Given the description of an element on the screen output the (x, y) to click on. 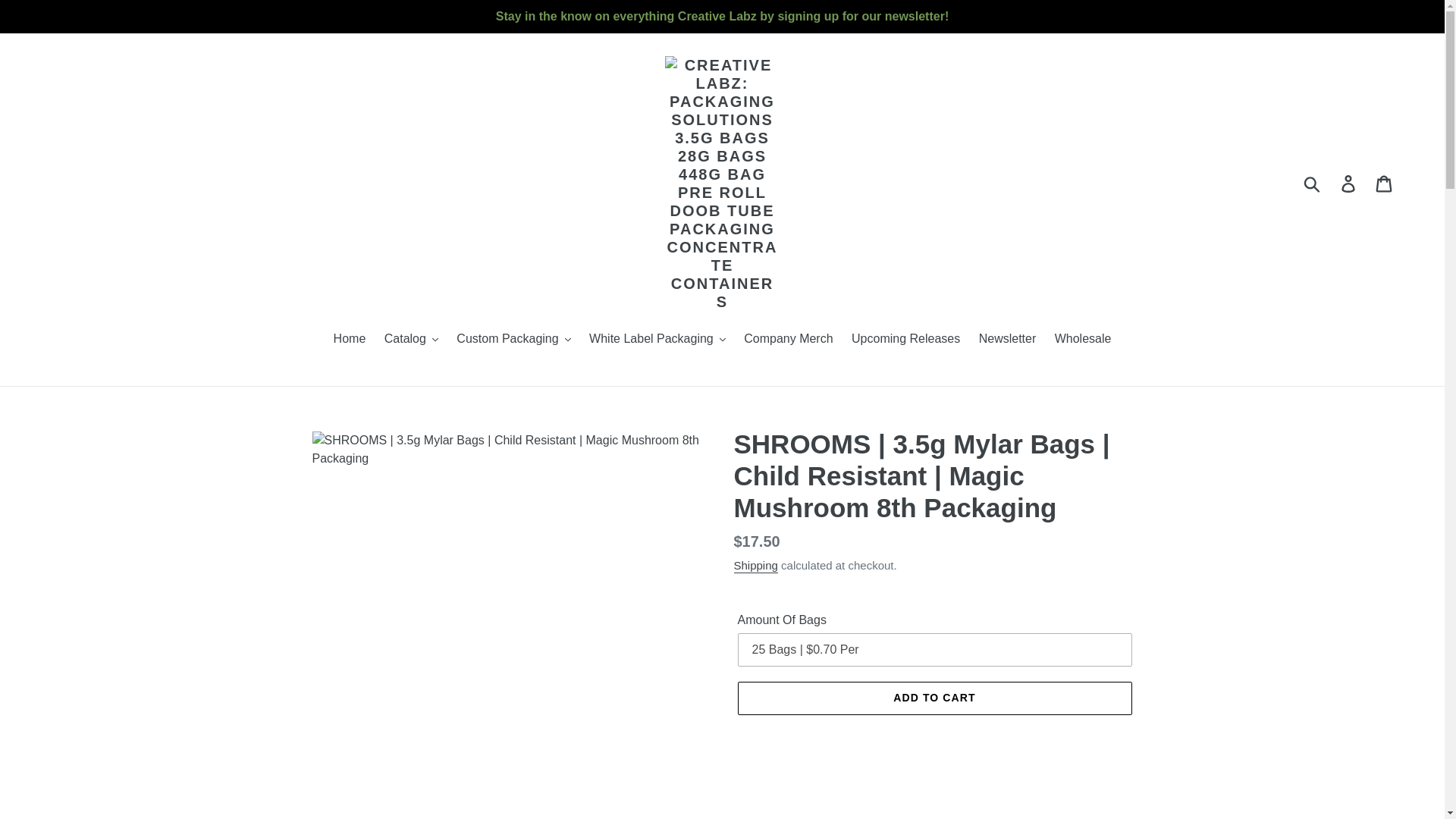
Cart (1385, 183)
Log in (1349, 183)
Submit (1313, 183)
